Given the description of an element on the screen output the (x, y) to click on. 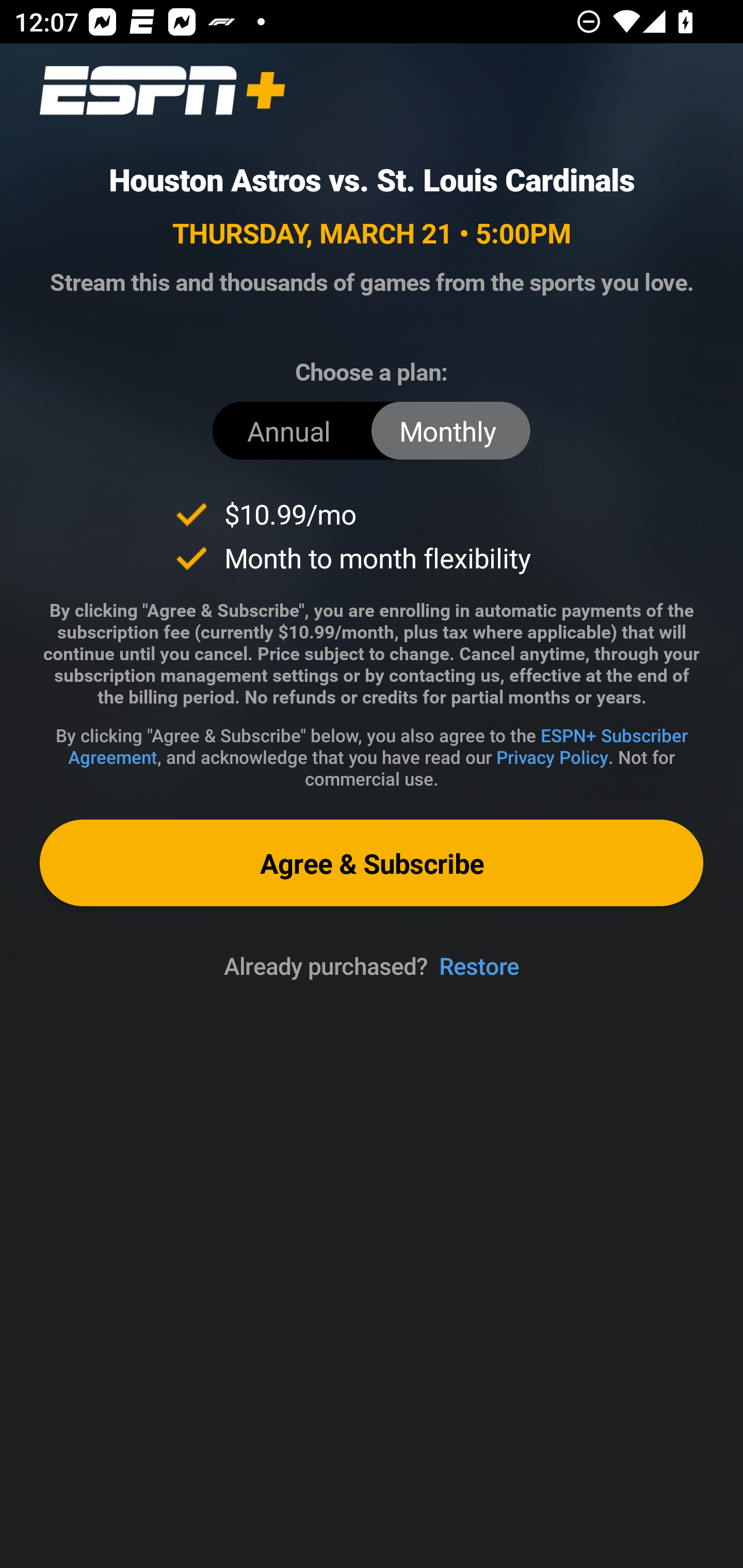
Agree & Subscribe (371, 863)
